Given the description of an element on the screen output the (x, y) to click on. 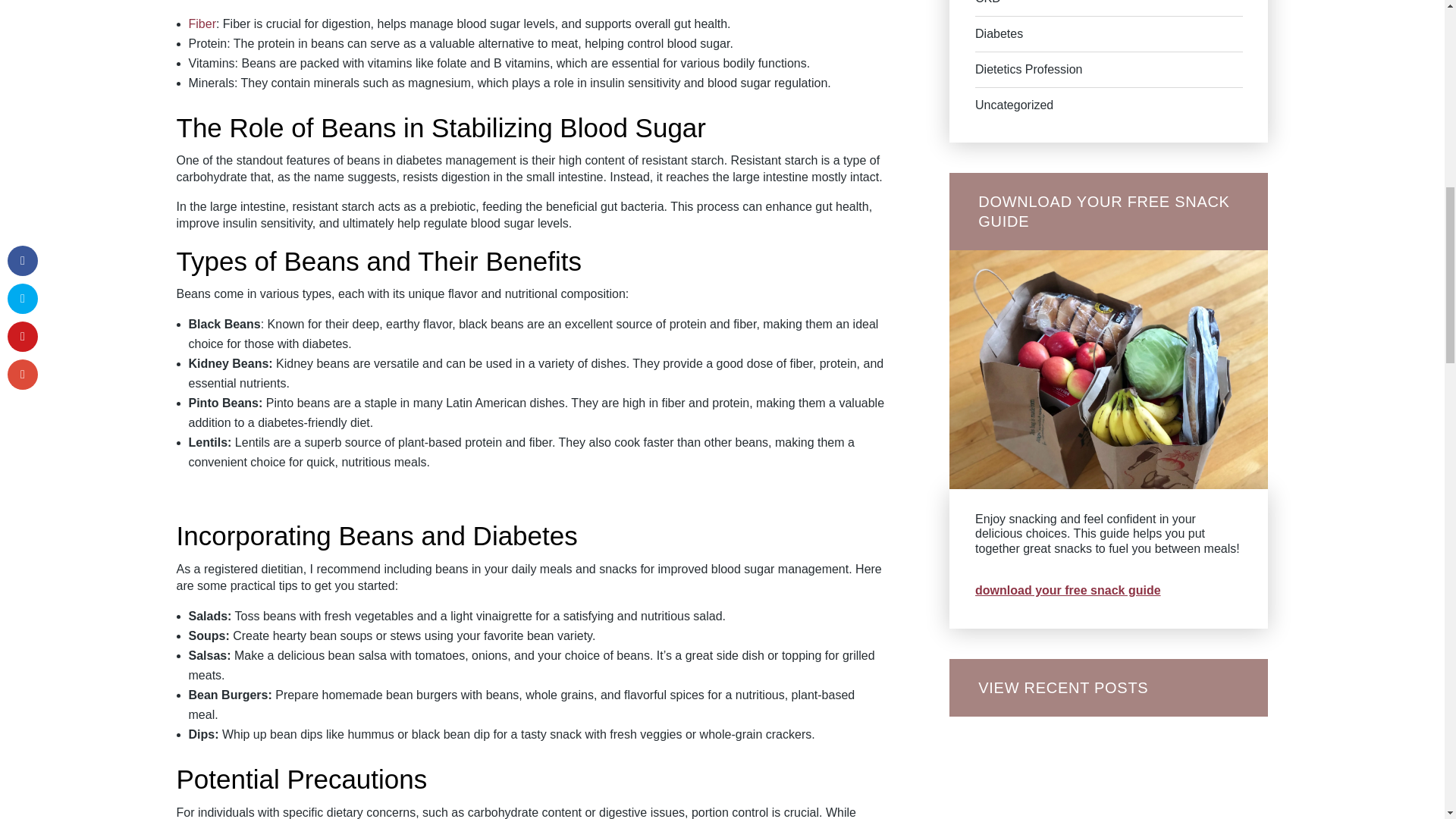
download your free snack guide (1067, 590)
confident-food-choices (1108, 369)
CKD (988, 2)
Fiber (201, 23)
Dietetics Profession (1028, 69)
Uncategorized (1013, 104)
Diabetes (999, 33)
